Given the description of an element on the screen output the (x, y) to click on. 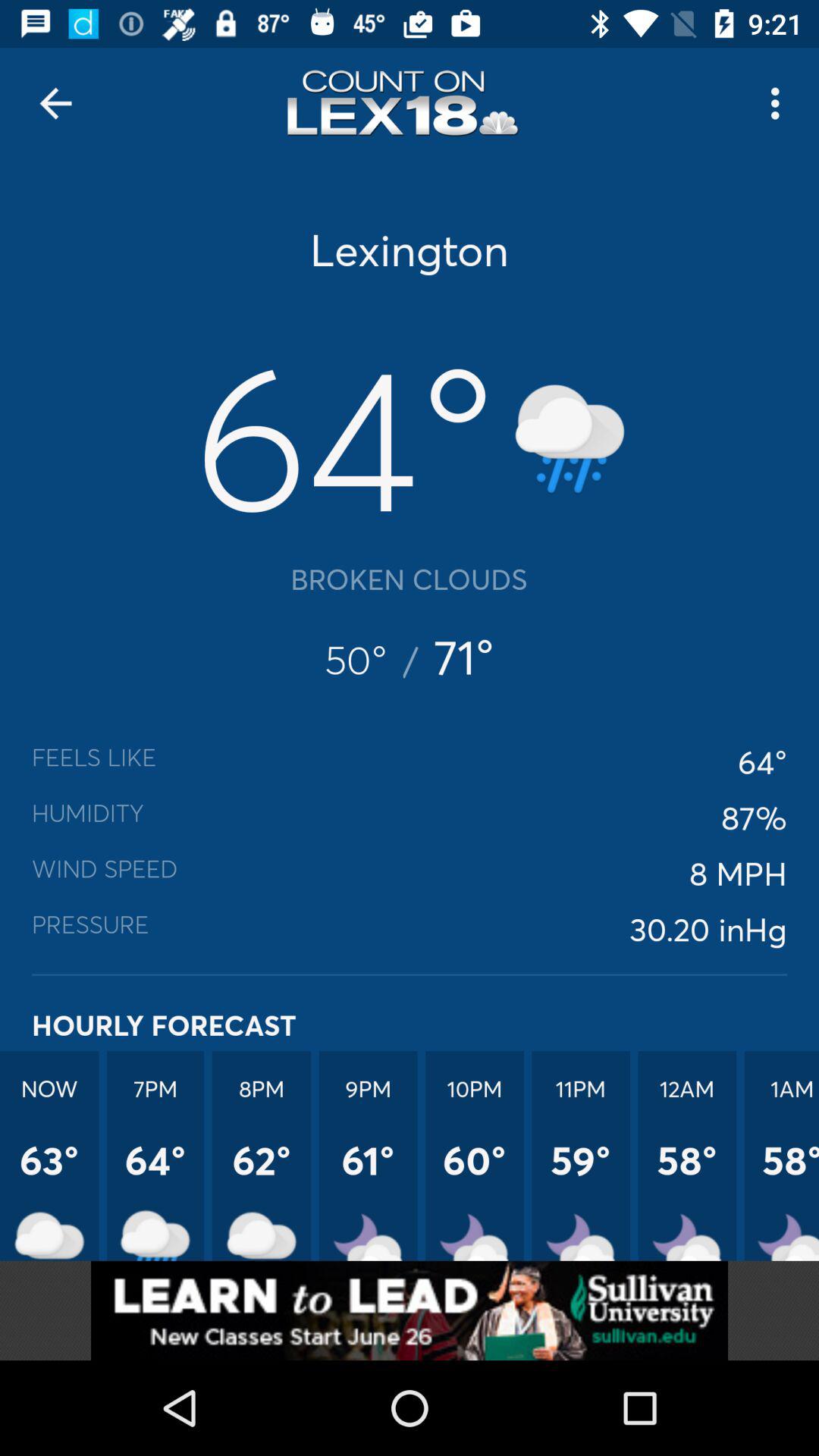
go to addverdisment (409, 1310)
